Given the description of an element on the screen output the (x, y) to click on. 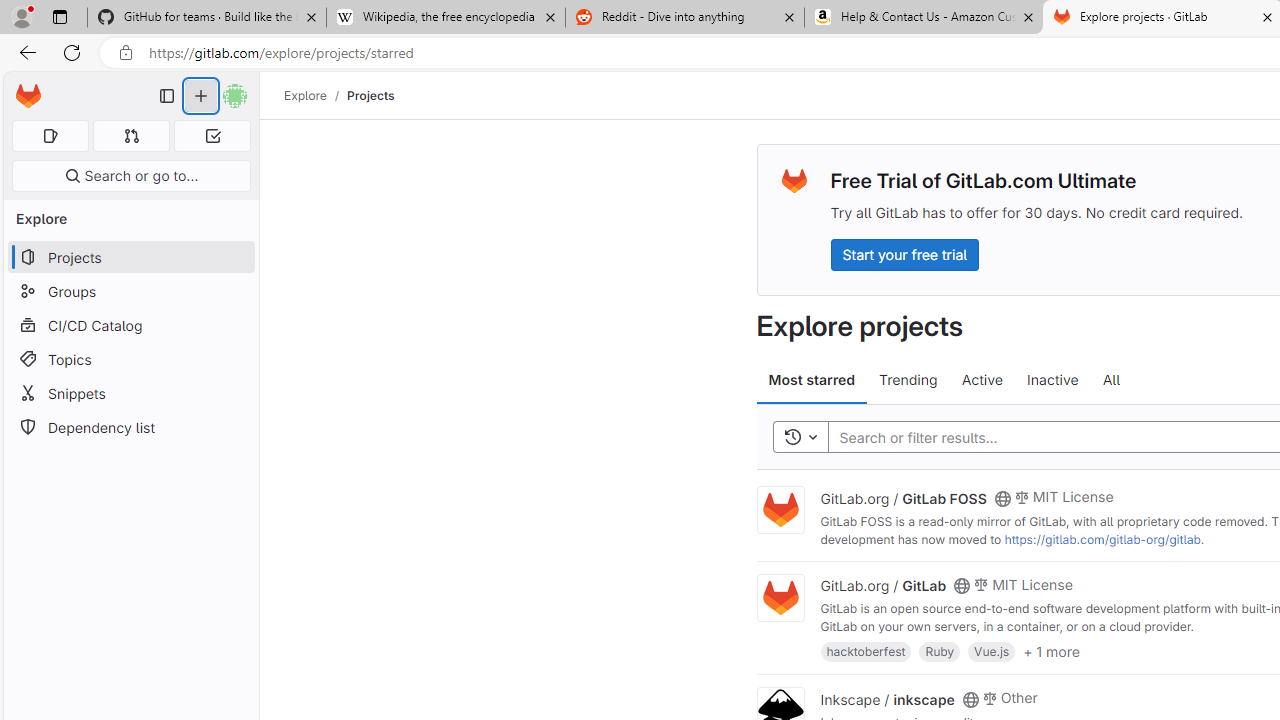
Assigned issues 0 (50, 136)
Projects (370, 95)
Snippets (130, 393)
Wikipedia, the free encyclopedia (445, 17)
